Given the description of an element on the screen output the (x, y) to click on. 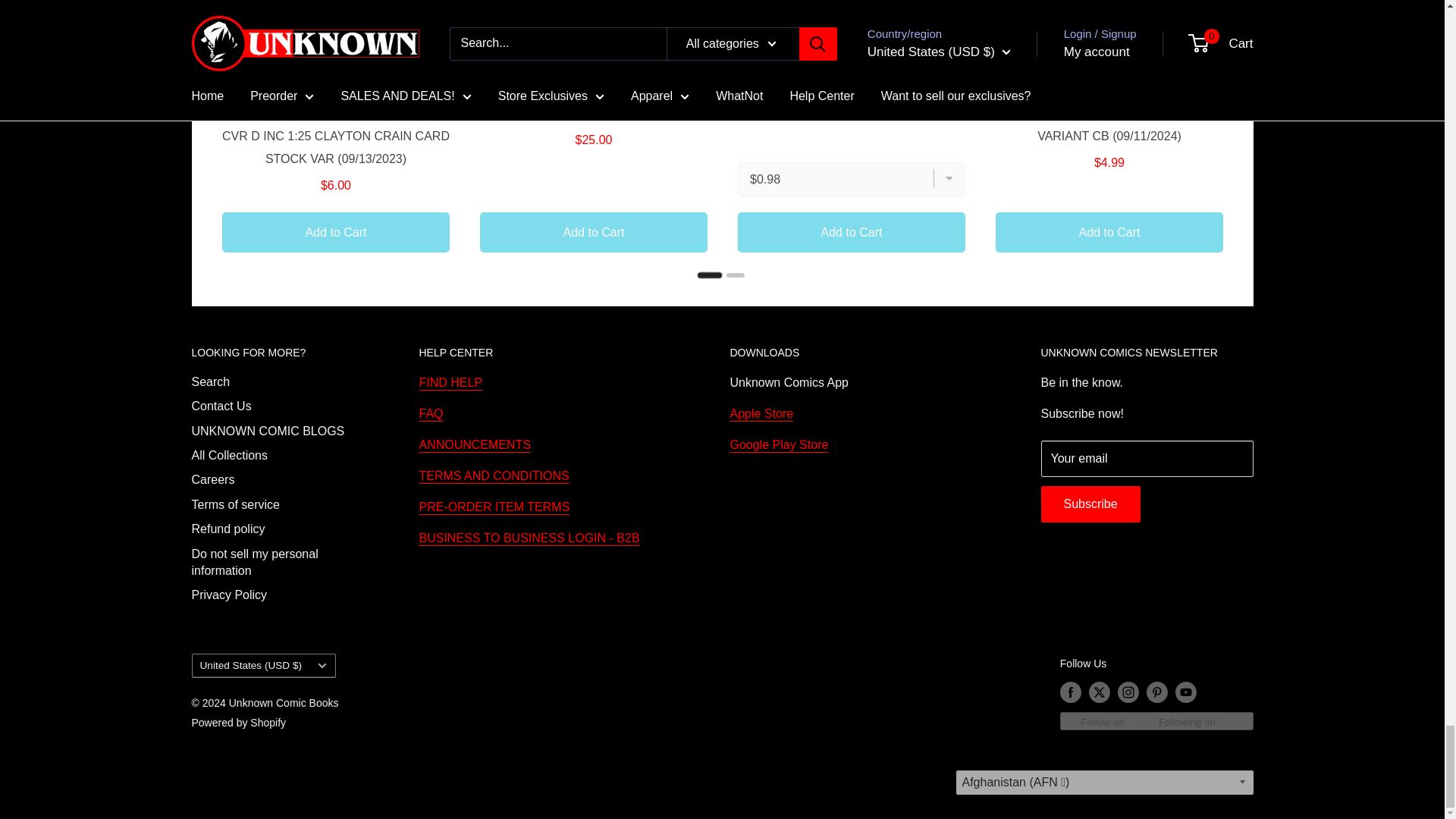
Select product variant (849, 178)
